Given the description of an element on the screen output the (x, y) to click on. 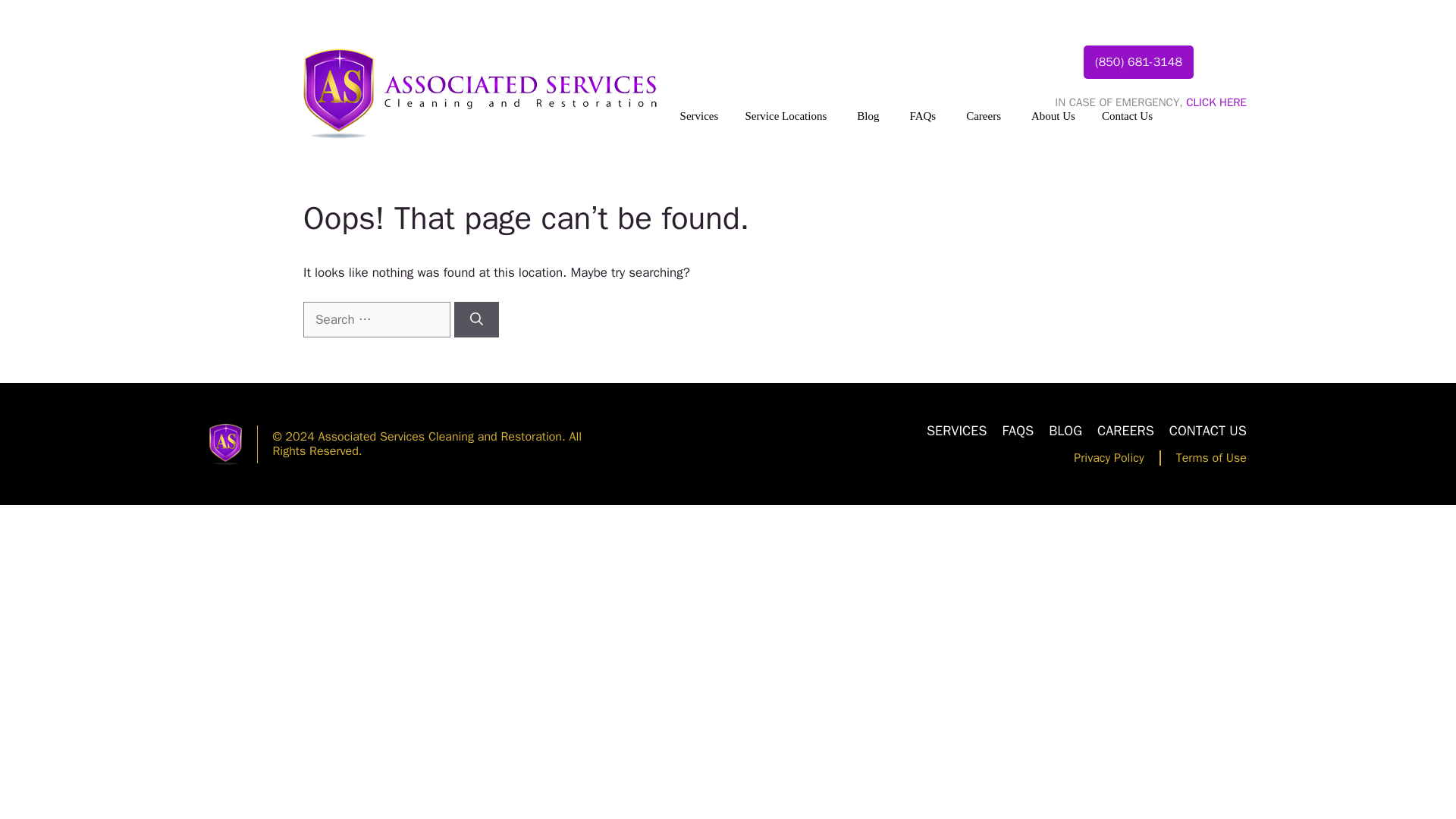
CLICK HERE (1216, 101)
Services (692, 115)
Search for: (375, 320)
